Given the description of an element on the screen output the (x, y) to click on. 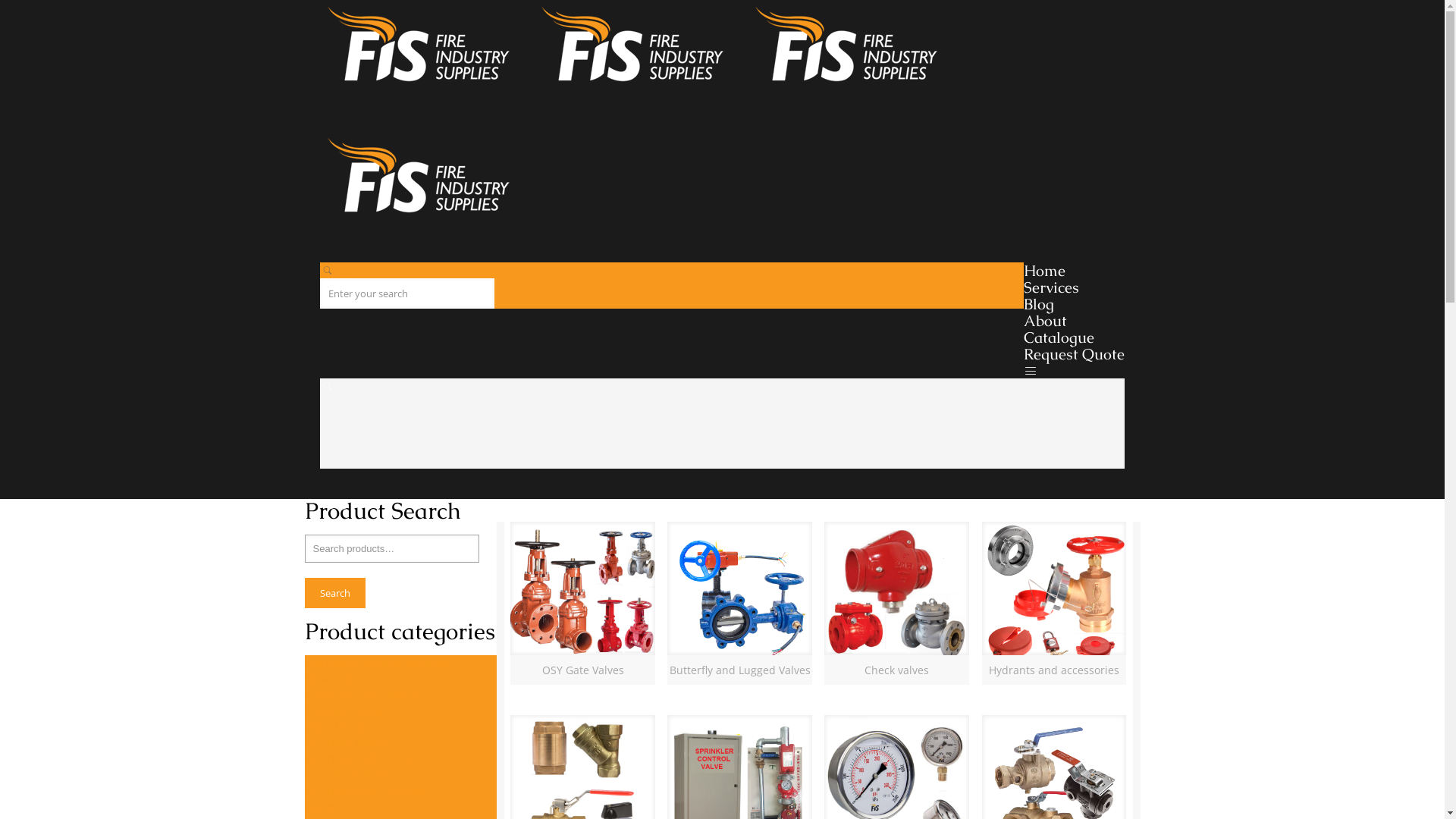
65mm STORZ Element type: text (338, 806)
Request Quote Element type: text (1073, 353)
Potter Pressure Switches Element type: text (367, 694)
Services Element type: text (1051, 286)
Check Valves1 Element type: hover (896, 593)
Hose Reel Nozzles Element type: text (350, 774)
Home Element type: text (1044, 270)
Flow Switches Element type: text (339, 678)
Fire Hose & Reels Element type: text (348, 742)
Fire Hose Reels Covers Element type: text (361, 758)
Fire Hydrant & Supplies Element type: text (364, 790)
Catalogue Element type: text (1058, 336)
Electrical Control & Switches Element type: text (376, 662)
Fire Industry Supplies Element type: hover (640, 151)
About Element type: text (1044, 320)
Valve Monitors Element type: text (341, 726)
Search Element type: text (334, 592)
Solenoid Valves Element type: text (343, 710)
OSY Element type: hover (582, 593)
hydrants Element type: hover (1054, 593)
Blog Element type: text (1038, 303)
